Given the description of an element on the screen output the (x, y) to click on. 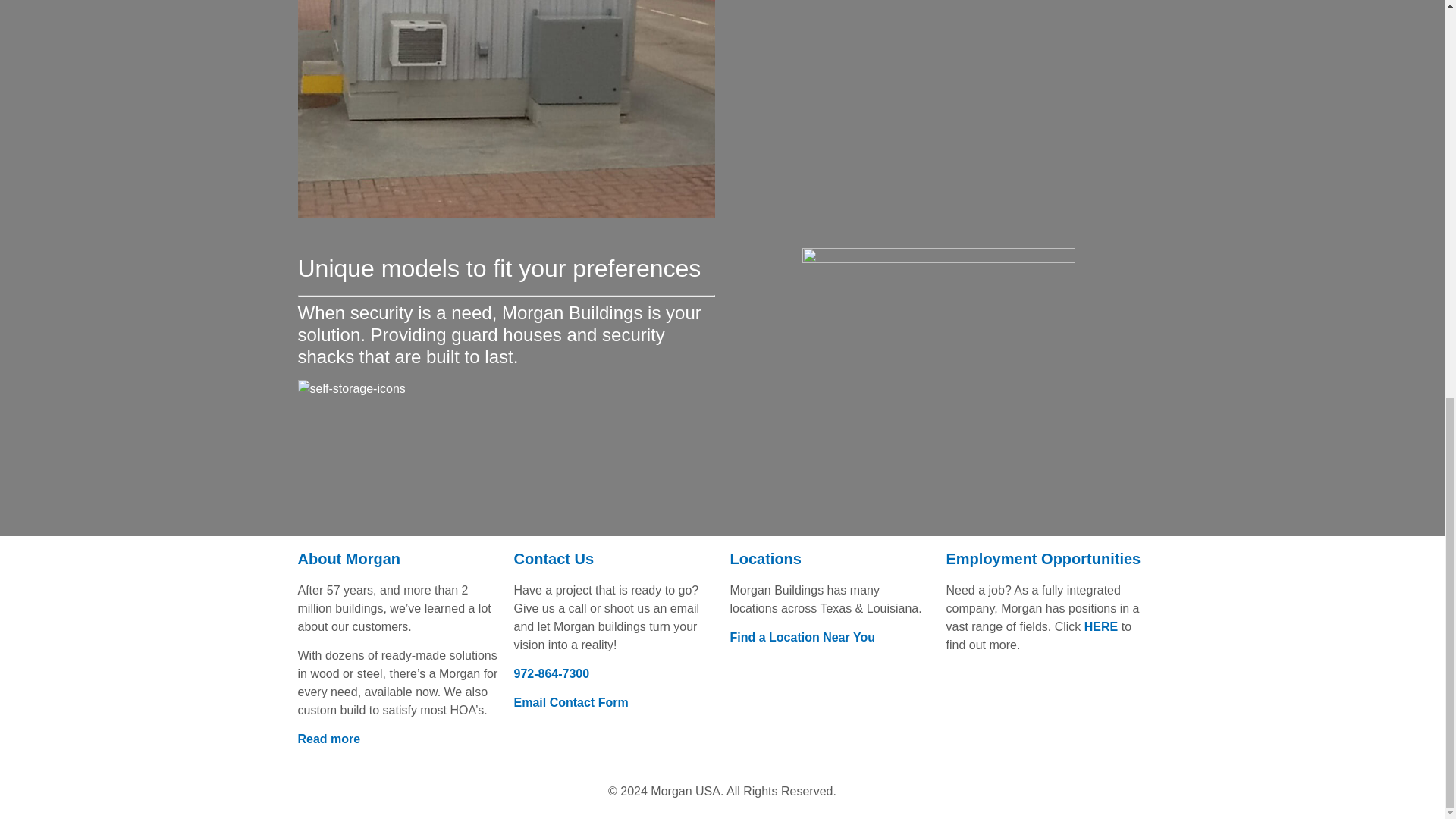
HERE (1101, 626)
Email Contact Form (570, 702)
972-864-7300 (551, 673)
Find a Location Near You (802, 636)
Read more (328, 738)
